Given the description of an element on the screen output the (x, y) to click on. 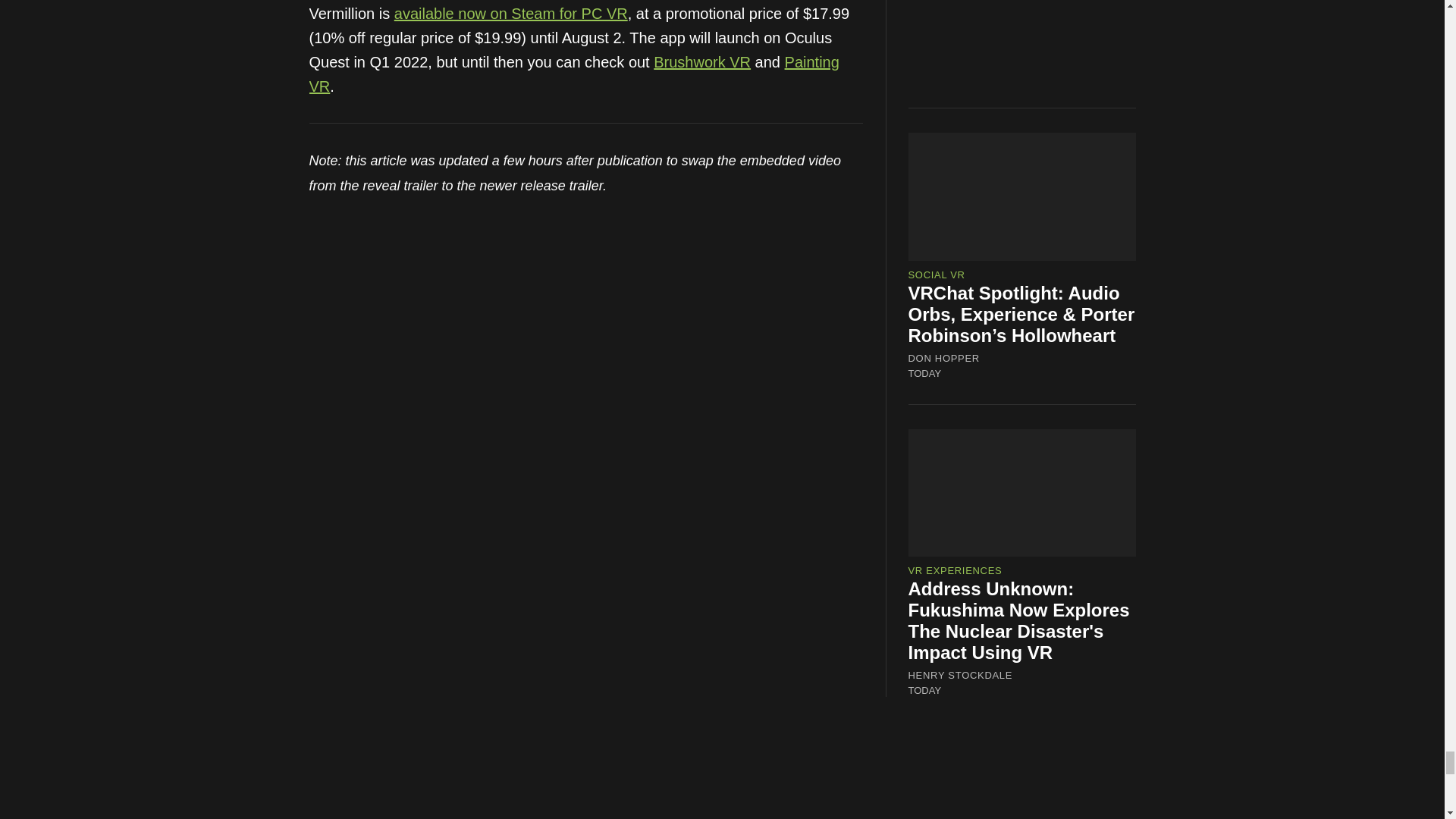
VR EXPERIENCES (955, 570)
DON HOPPER (943, 357)
Brushwork VR (702, 62)
available now on Steam for PC VR (510, 13)
HENRY STOCKDALE (960, 675)
Painting VR (574, 74)
SOCIAL VR (936, 274)
